Given the description of an element on the screen output the (x, y) to click on. 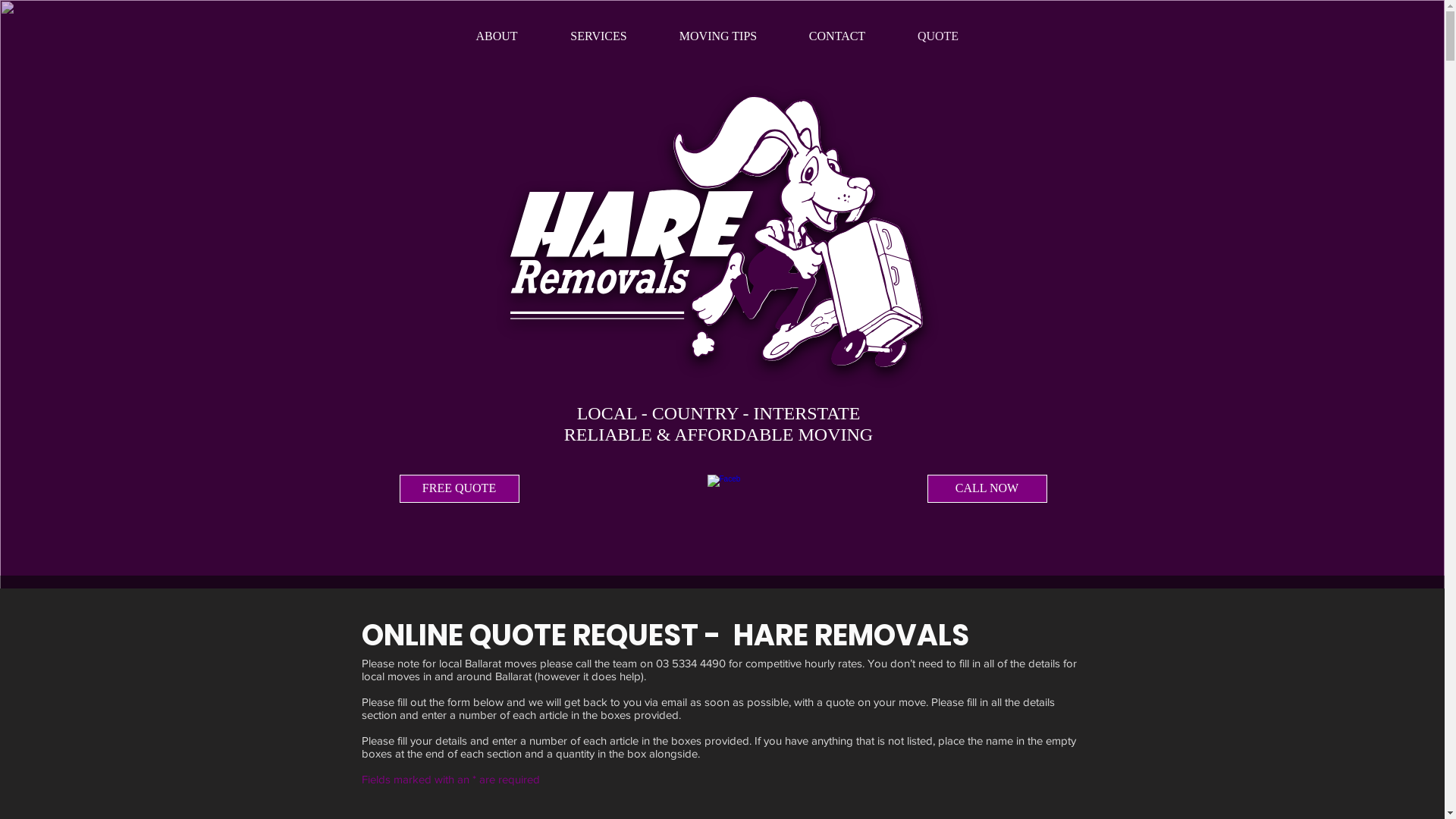
CALL NOW Element type: text (986, 488)
ABOUT Element type: text (495, 35)
FREE QUOTE Element type: text (458, 488)
QUOTE Element type: text (938, 35)
CONTACT Element type: text (836, 35)
SERVICES Element type: text (598, 35)
MOVING TIPS Element type: text (718, 35)
